Given the description of an element on the screen output the (x, y) to click on. 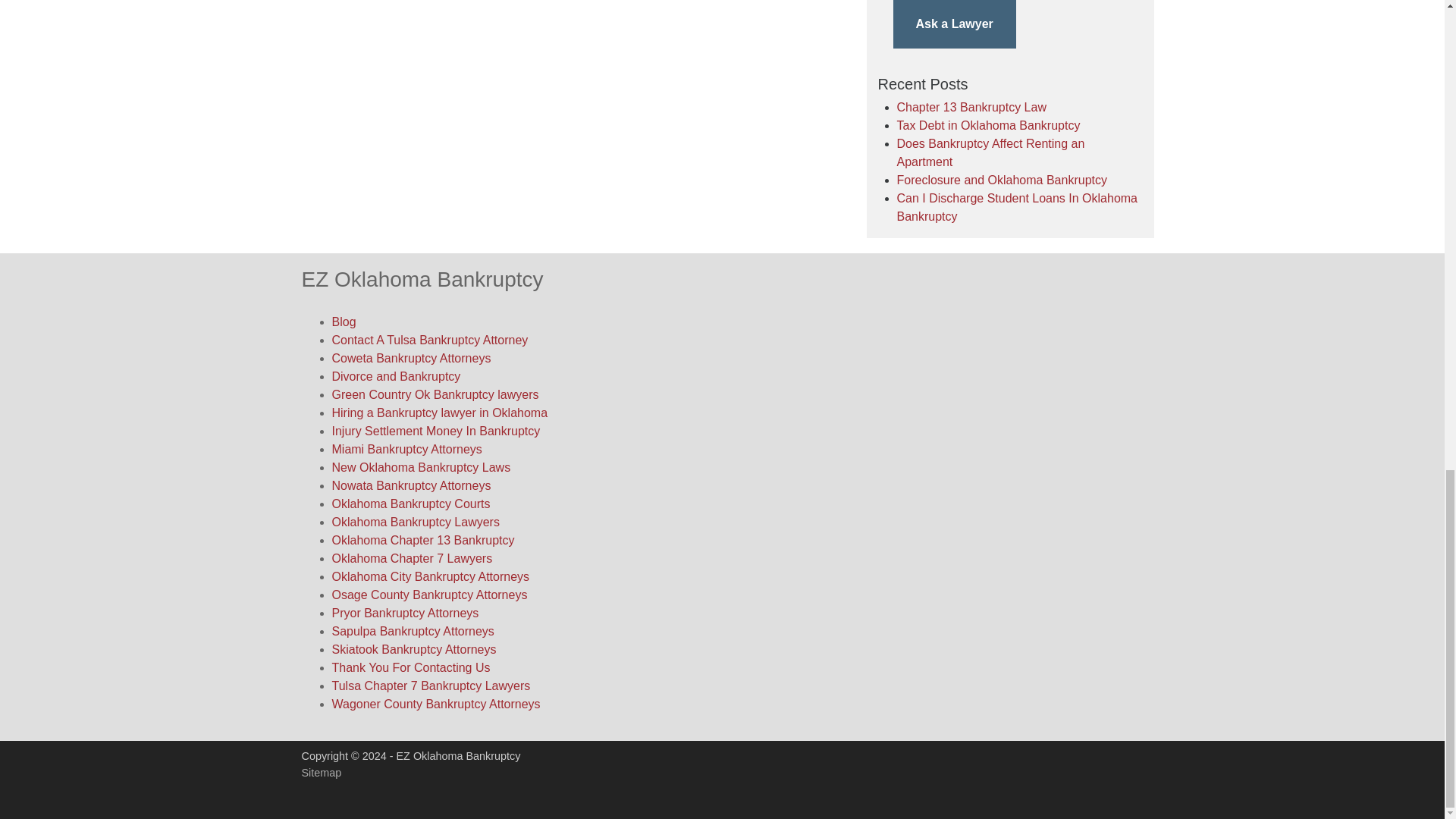
Ask a Lawyer (954, 24)
